Given the description of an element on the screen output the (x, y) to click on. 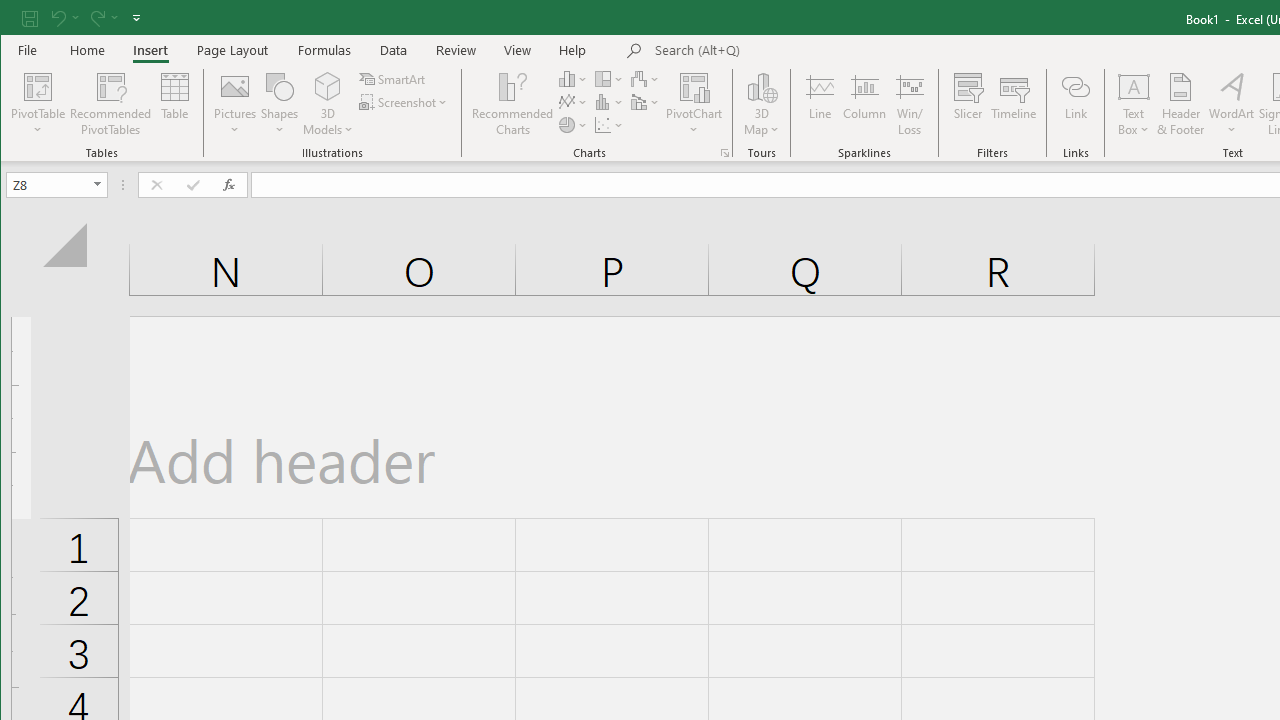
3D Models (327, 86)
Insert Hierarchy Chart (609, 78)
Win/Loss (909, 104)
3D Models (327, 104)
Insert Combo Chart (646, 101)
Line (819, 104)
Draw Horizontal Text Box (1133, 86)
Recommended PivotTables (110, 104)
